Given the description of an element on the screen output the (x, y) to click on. 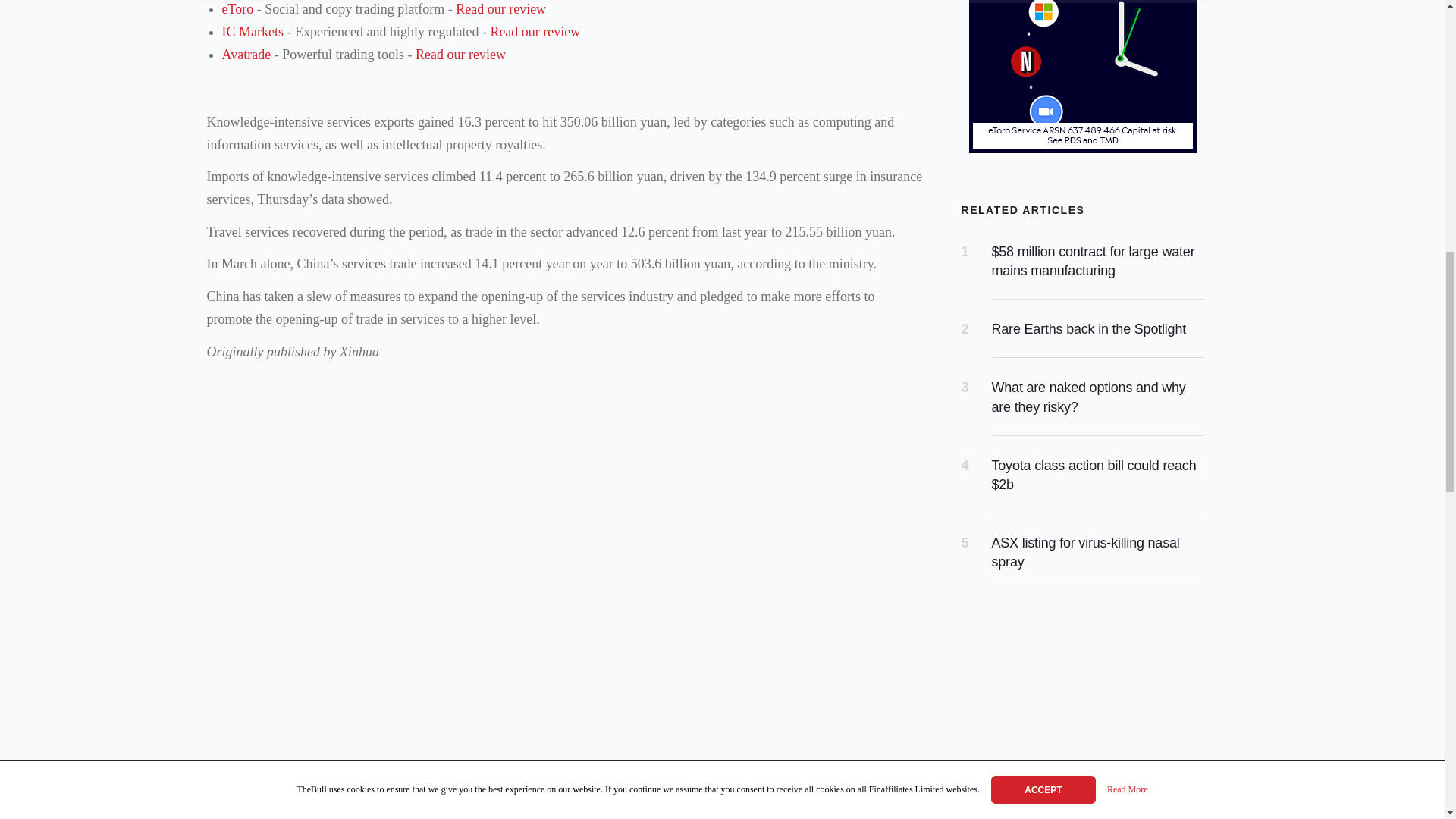
Rare Earths back in the Spotlight (1088, 328)
ASX listing for virus-killing nasal spray (1085, 552)
Read our review (534, 31)
ASX listing for virus-killing nasal spray (1085, 552)
Avatrade (245, 54)
IC Markets (251, 31)
eToro (237, 8)
What are naked options and why are they risky? (1088, 397)
Read our review (500, 8)
What are naked options and why are they risky? (1088, 397)
Read our review (459, 54)
Rare Earths back in the Spotlight (1088, 328)
